Given the description of an element on the screen output the (x, y) to click on. 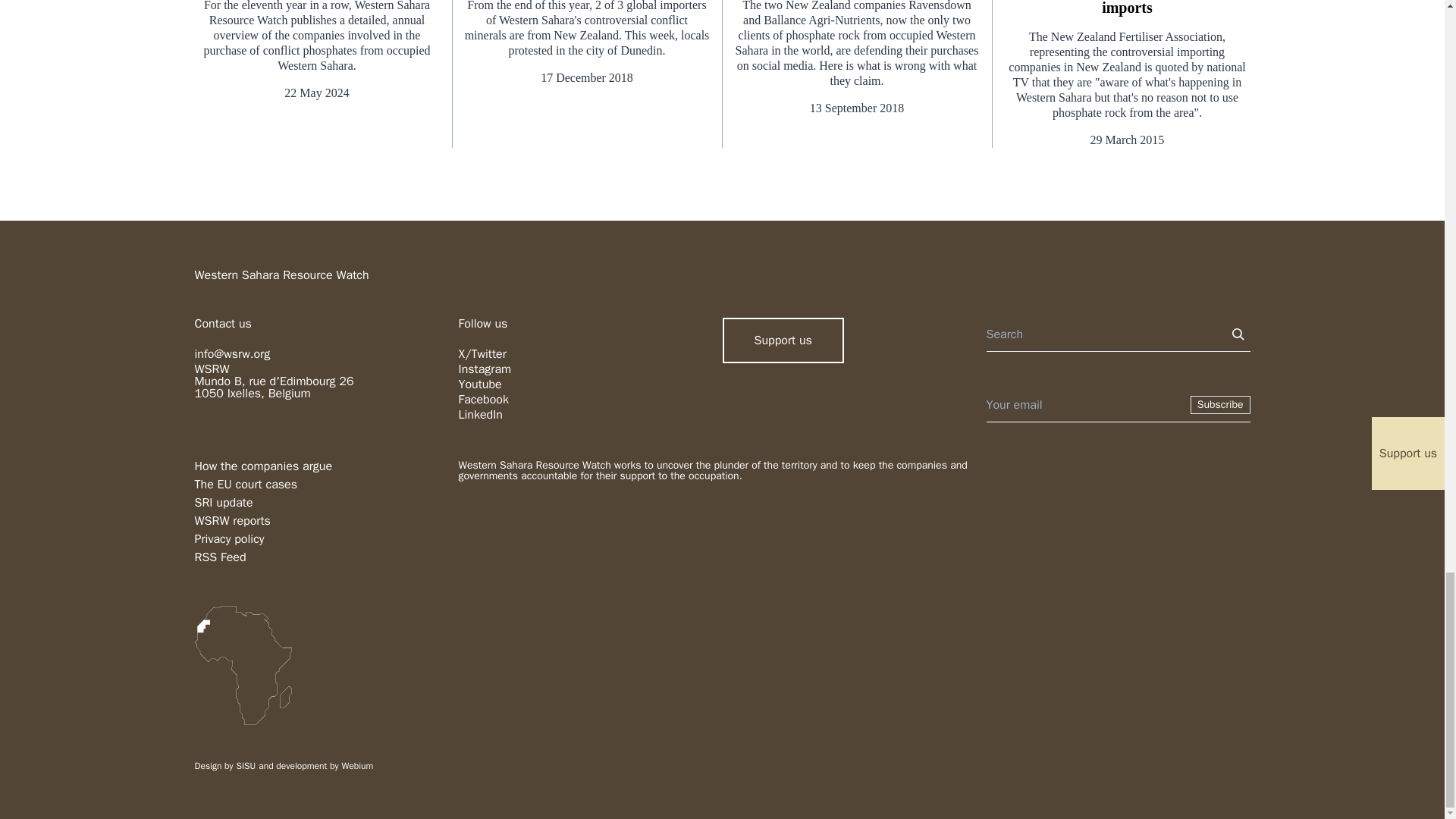
SRI update (222, 502)
Facebook (483, 399)
Youtube (479, 384)
LinkedIn (480, 414)
How the companies argue (262, 466)
Support us (782, 340)
Instagram (484, 368)
NZ fertiliser importers defend their imports (1126, 8)
Subscribe (1220, 404)
WSRW reports (231, 520)
